Given the description of an element on the screen output the (x, y) to click on. 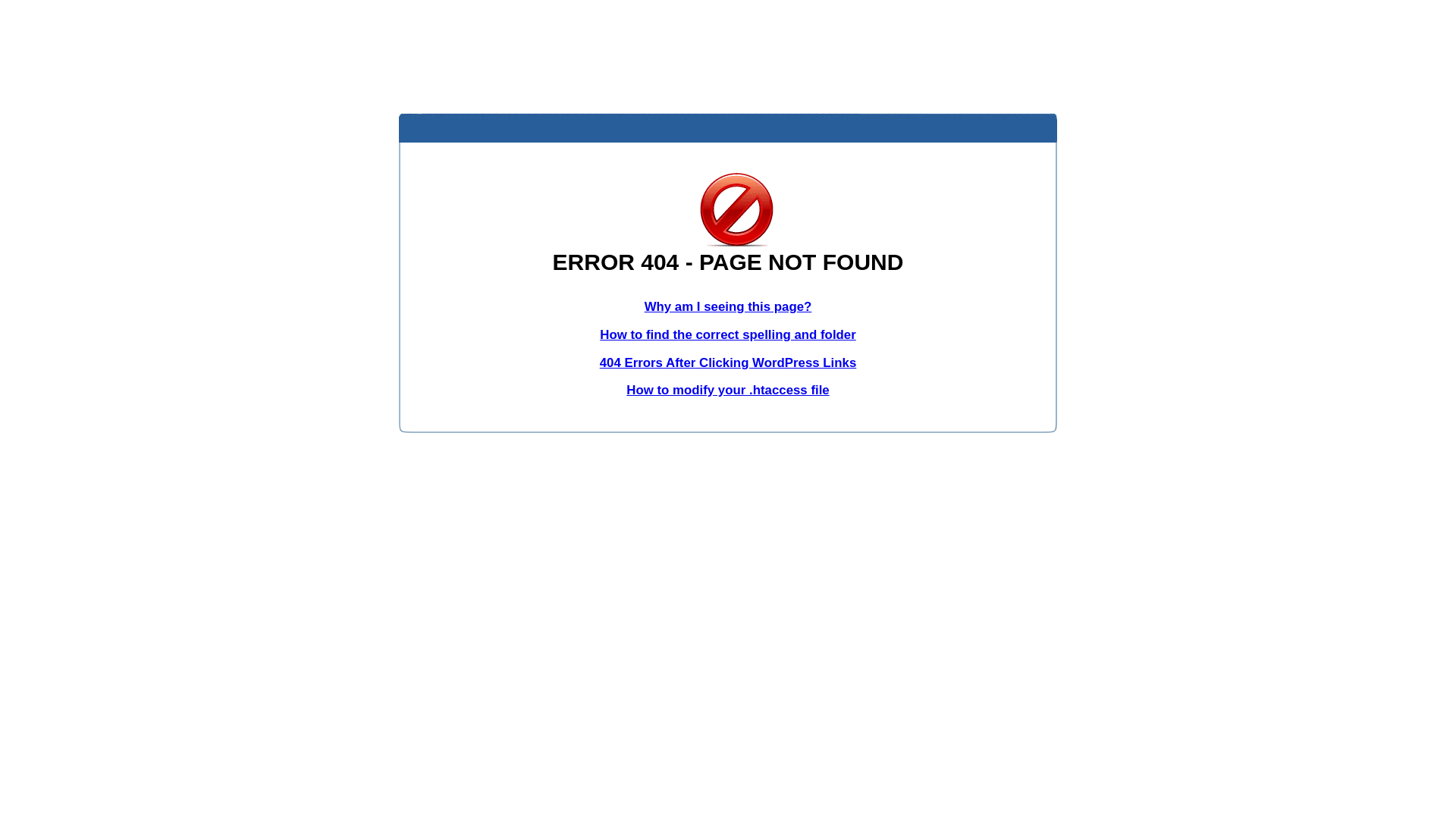
Why am I seeing this page? Element type: text (728, 306)
404 Errors After Clicking WordPress Links Element type: text (727, 362)
How to find the correct spelling and folder Element type: text (727, 334)
How to modify your .htaccess file Element type: text (727, 389)
